Given the description of an element on the screen output the (x, y) to click on. 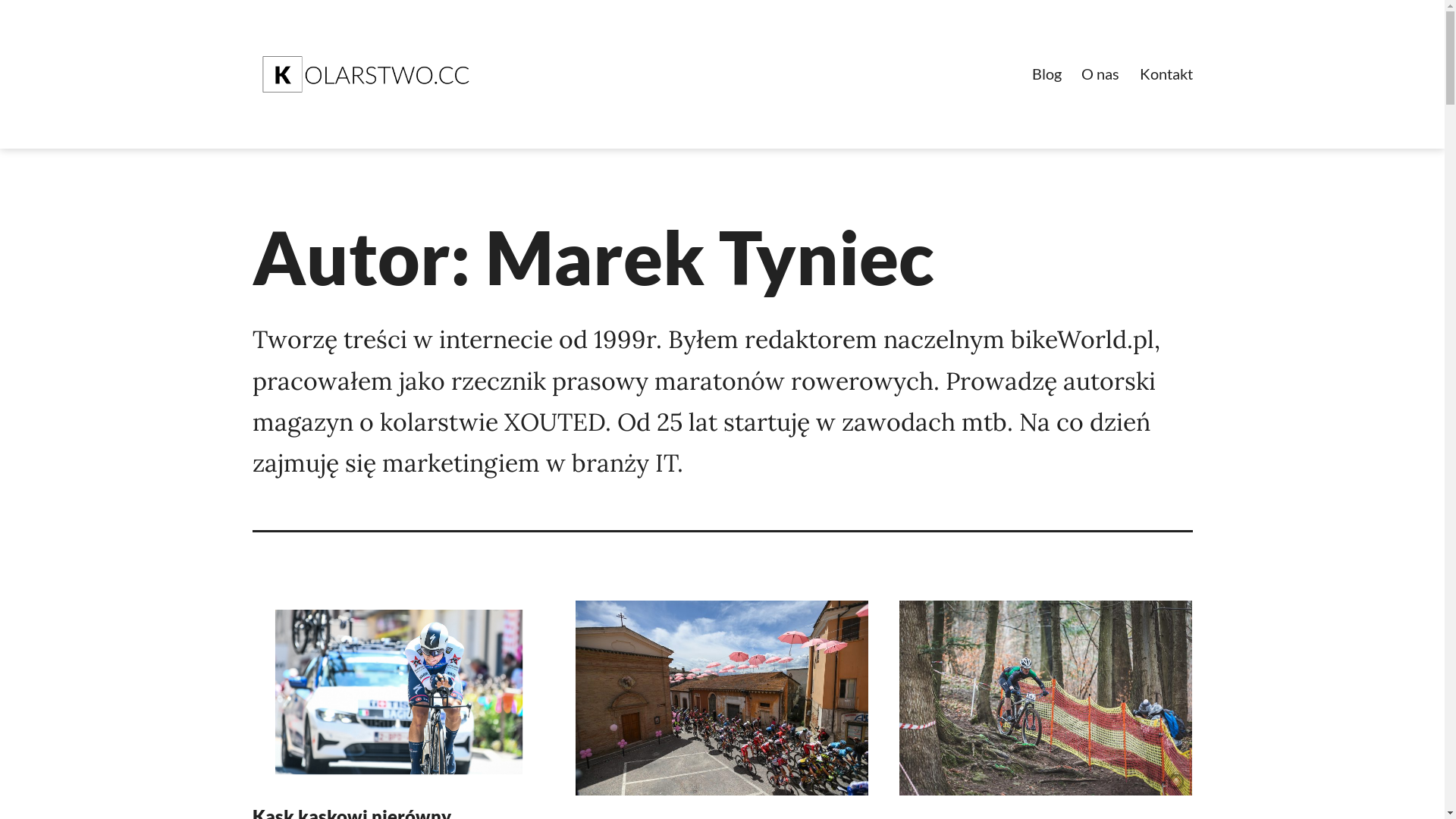
Kontakt Element type: text (1165, 73)
Blog Element type: text (1046, 73)
O nas Element type: text (1100, 73)
